Given the description of an element on the screen output the (x, y) to click on. 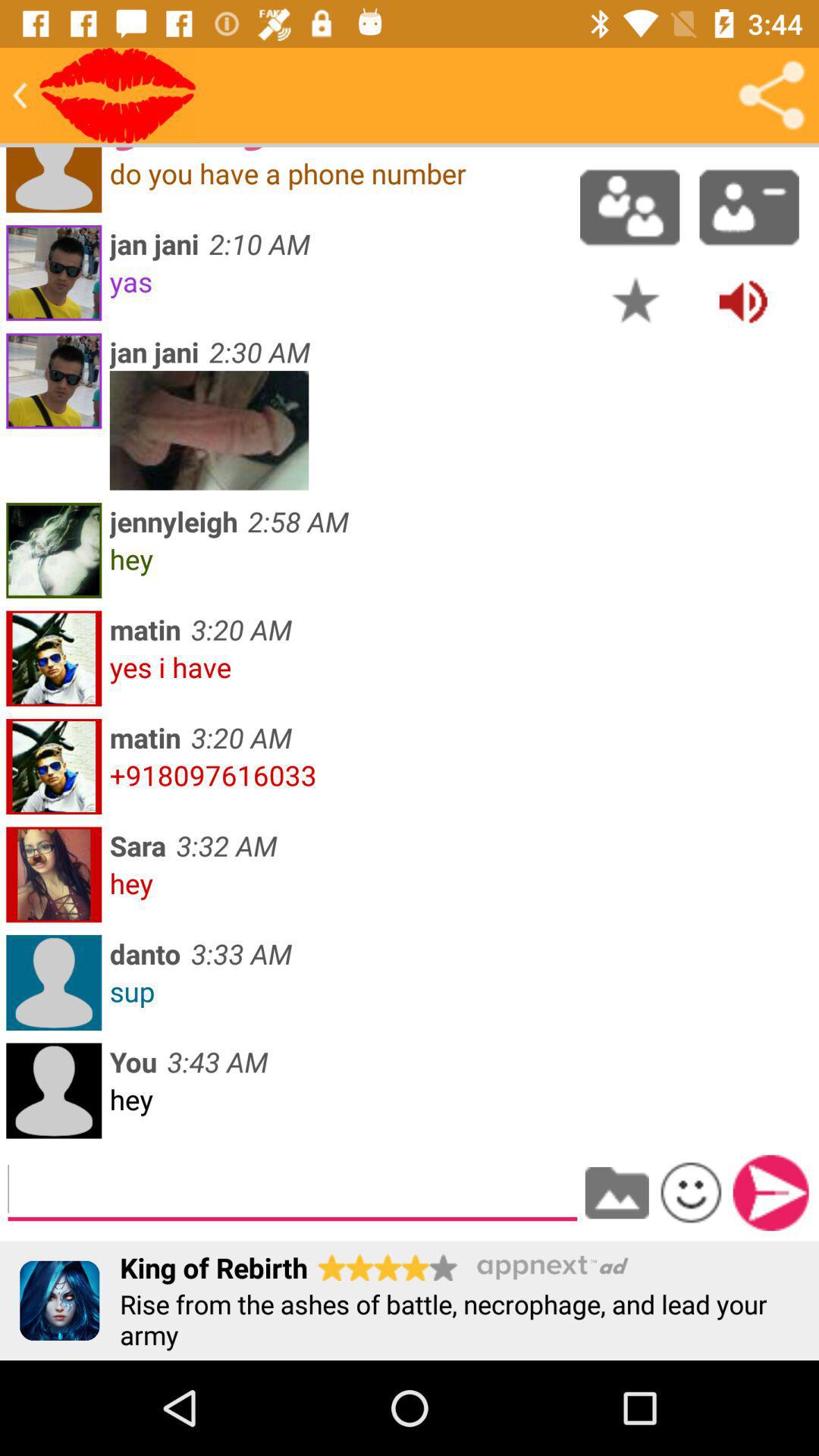
turn volume up (743, 300)
